Given the description of an element on the screen output the (x, y) to click on. 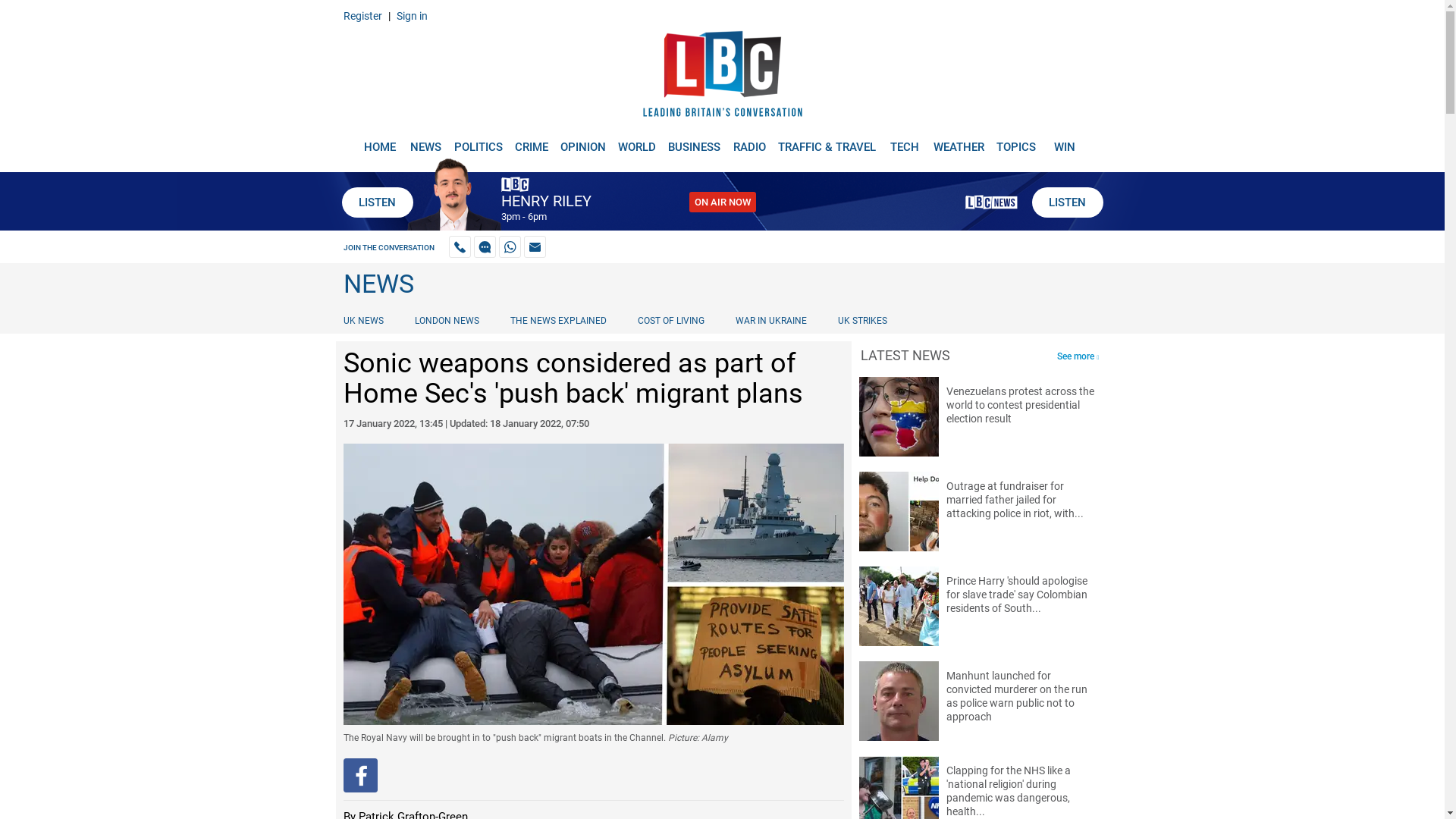
TOPICS (1016, 140)
LISTEN (376, 202)
WORLD (636, 140)
POLITICS (478, 140)
OPINION (582, 140)
UK STRIKES (862, 320)
TECH (904, 140)
UK NEWS (365, 320)
LONDON NEWS (446, 320)
LISTEN (1066, 202)
